Given the description of an element on the screen output the (x, y) to click on. 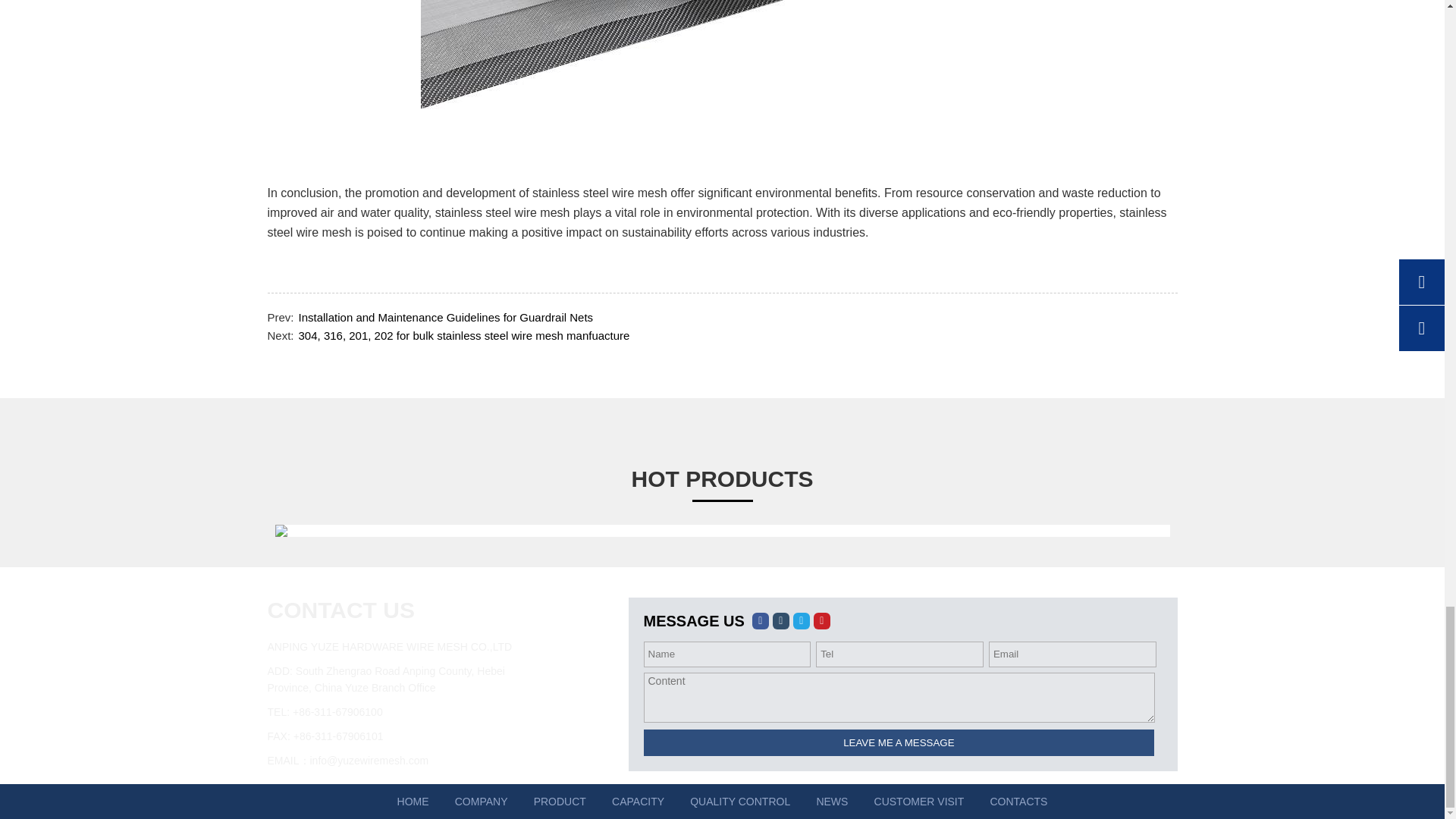
leave me a message (898, 742)
1712029325424803.jpg (723, 84)
Installation and Maintenance Guidelines for Guardrail Nets (446, 317)
